Given the description of an element on the screen output the (x, y) to click on. 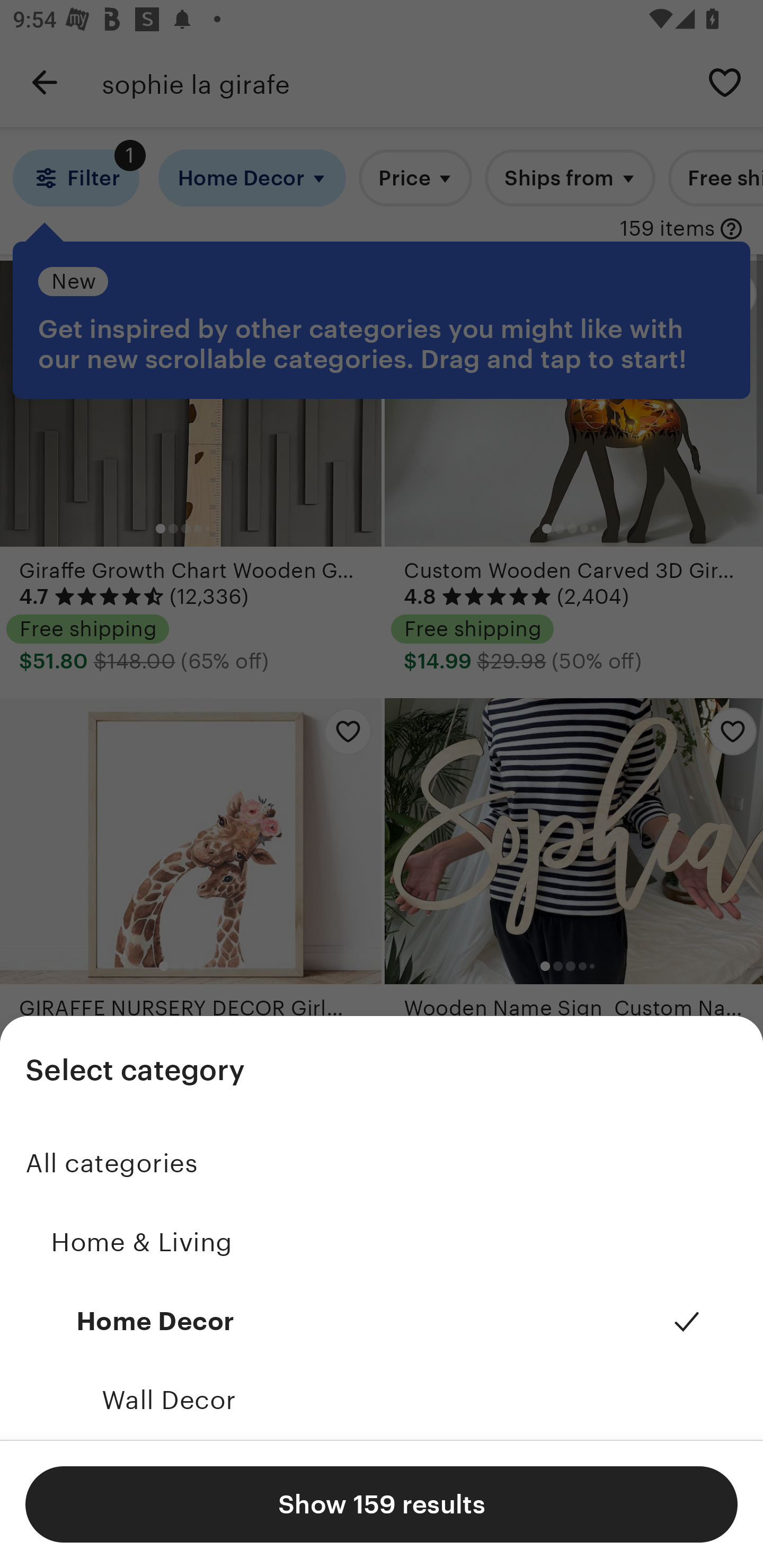
All categories (381, 1163)
Home & Living (381, 1242)
Home Decor Selected (381, 1321)
Wall Decor (381, 1400)
Show 159 results (381, 1504)
